Given the description of an element on the screen output the (x, y) to click on. 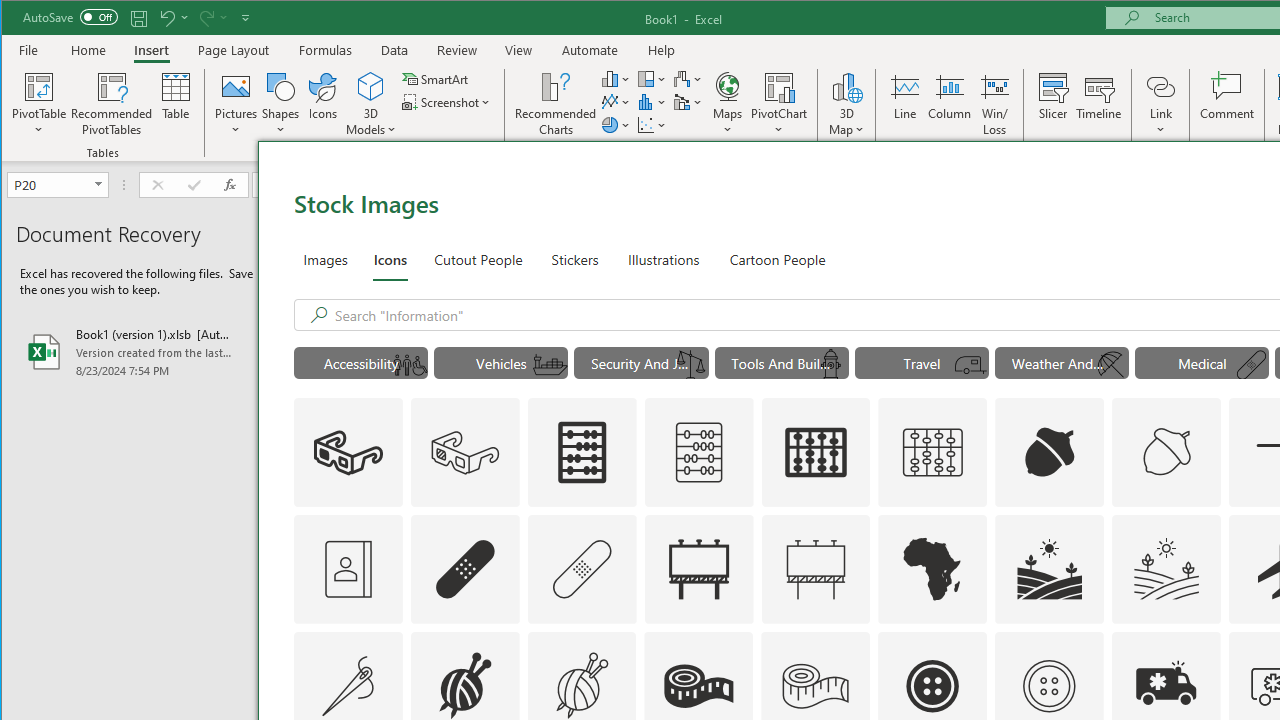
AutomationID: Icons_Abacus1 (815, 452)
"Security And Justice" Icons. (641, 362)
AutomationID: Icons_3dGlasses_M (464, 452)
AutomationID: Icons_Abacus1_M (932, 452)
Maps (727, 104)
